Given the description of an element on the screen output the (x, y) to click on. 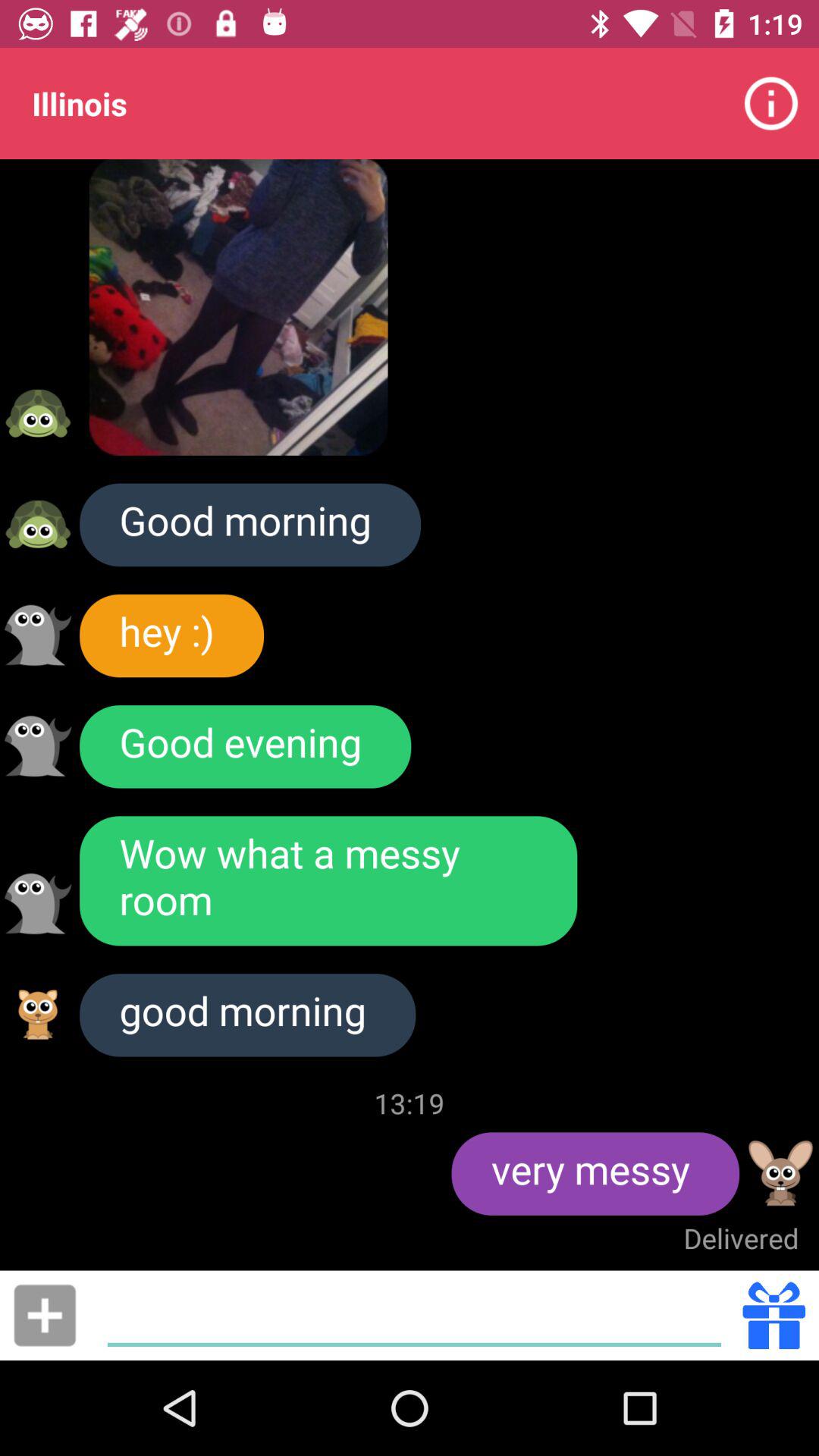
type text here (414, 1315)
